Given the description of an element on the screen output the (x, y) to click on. 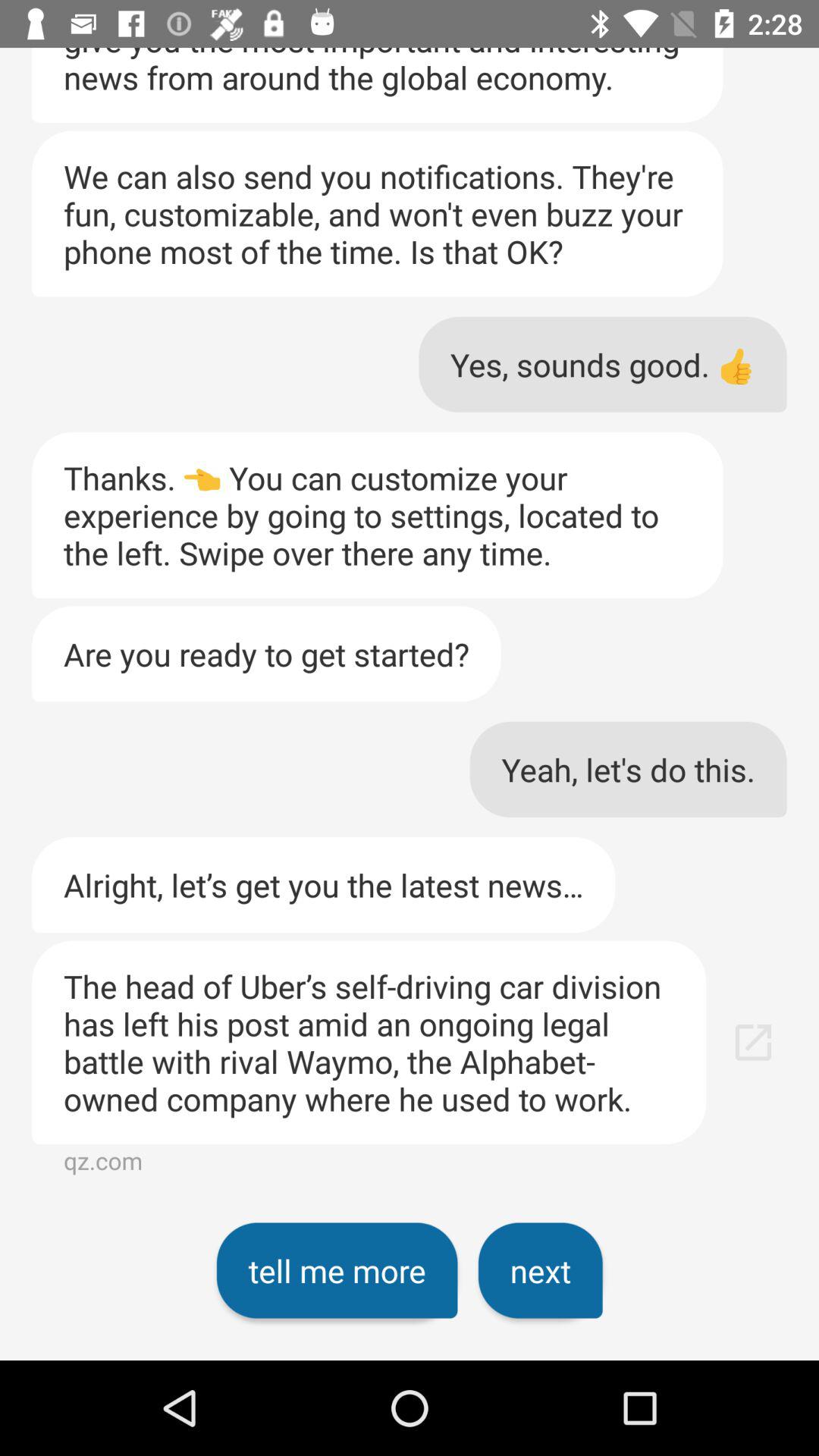
tap the icon next to the next (336, 1270)
